Given the description of an element on the screen output the (x, y) to click on. 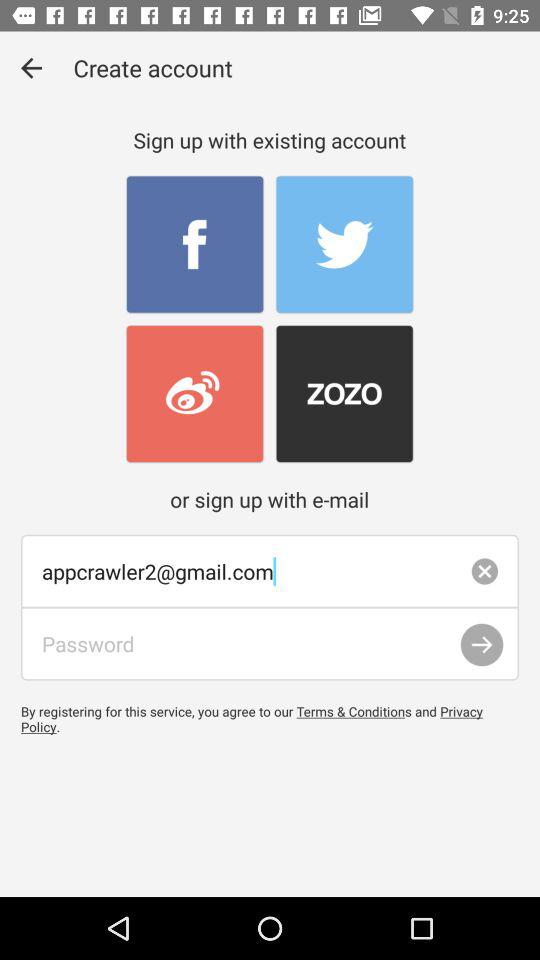
press item below the appcrawler2@gmail.com item (482, 644)
